Given the description of an element on the screen output the (x, y) to click on. 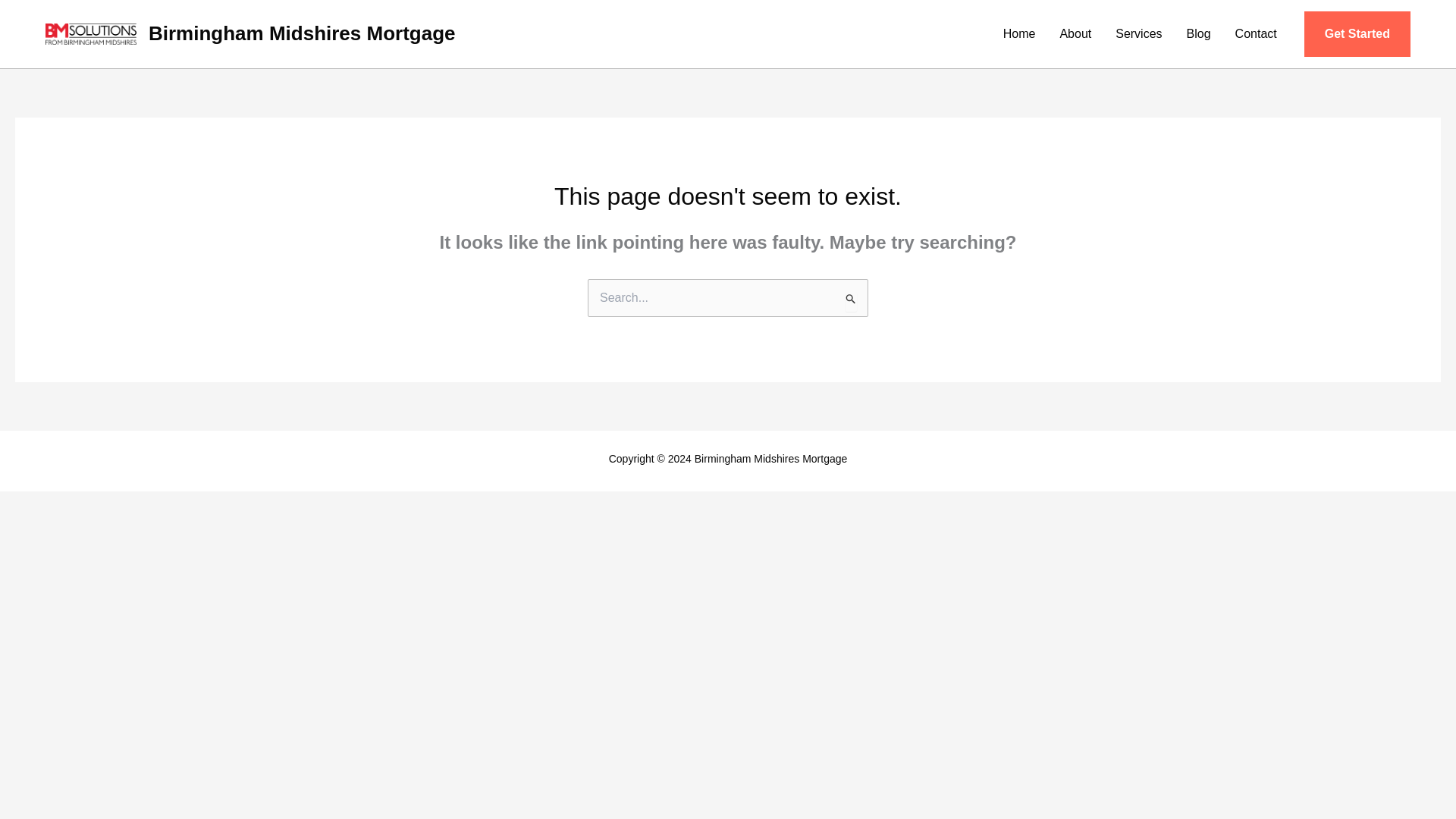
Contact (1255, 33)
Birmingham Midshires Mortgage (301, 33)
Services (1138, 33)
Get Started (1357, 33)
